Given the description of an element on the screen output the (x, y) to click on. 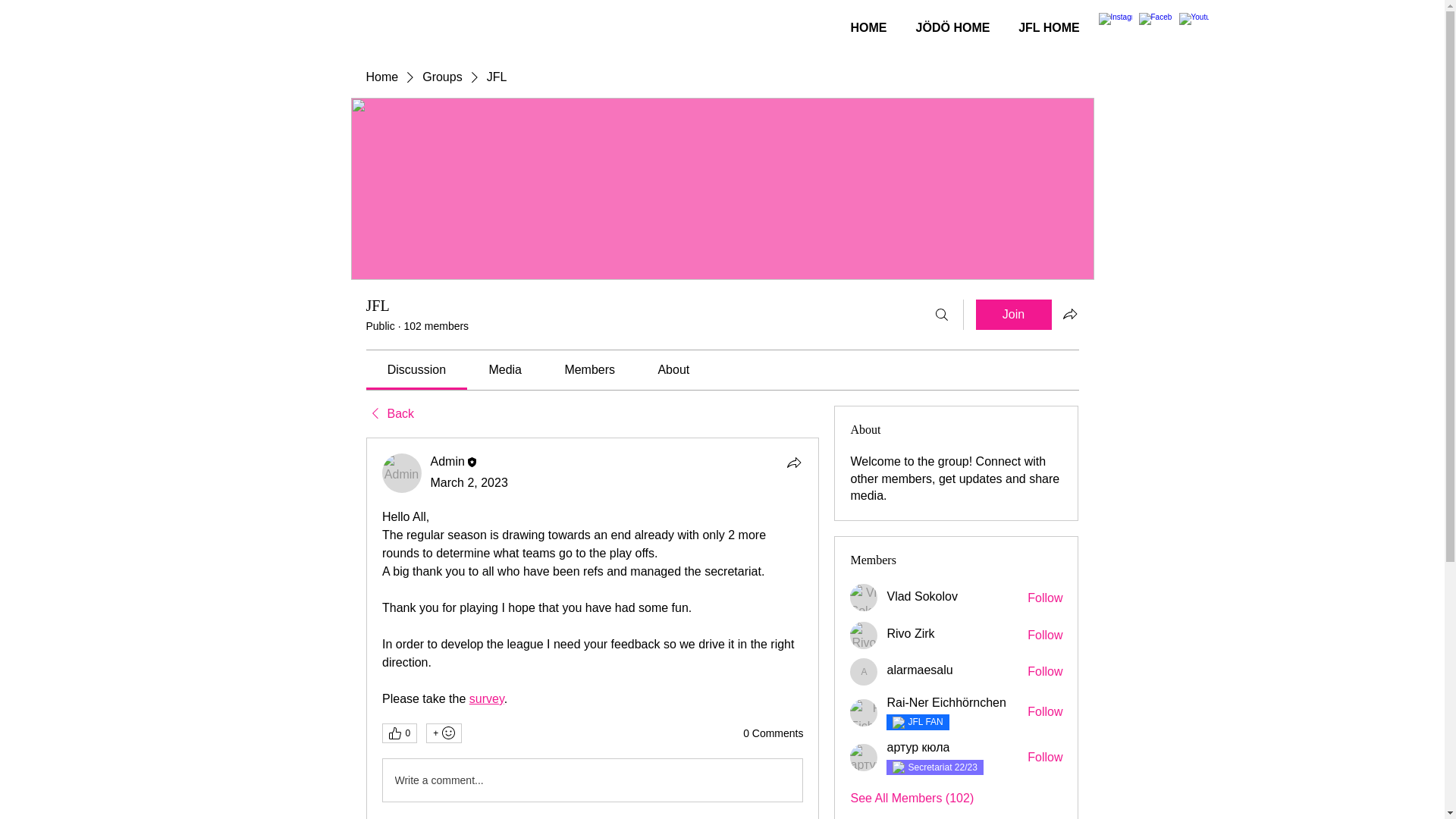
alarmaesalu (919, 669)
0 Comments (772, 734)
Rivo Zirk (863, 635)
Admin (401, 473)
Rivo Zirk (910, 633)
alarmaesalu (863, 671)
Join (1013, 314)
Admin (447, 461)
Home (381, 76)
